Given the description of an element on the screen output the (x, y) to click on. 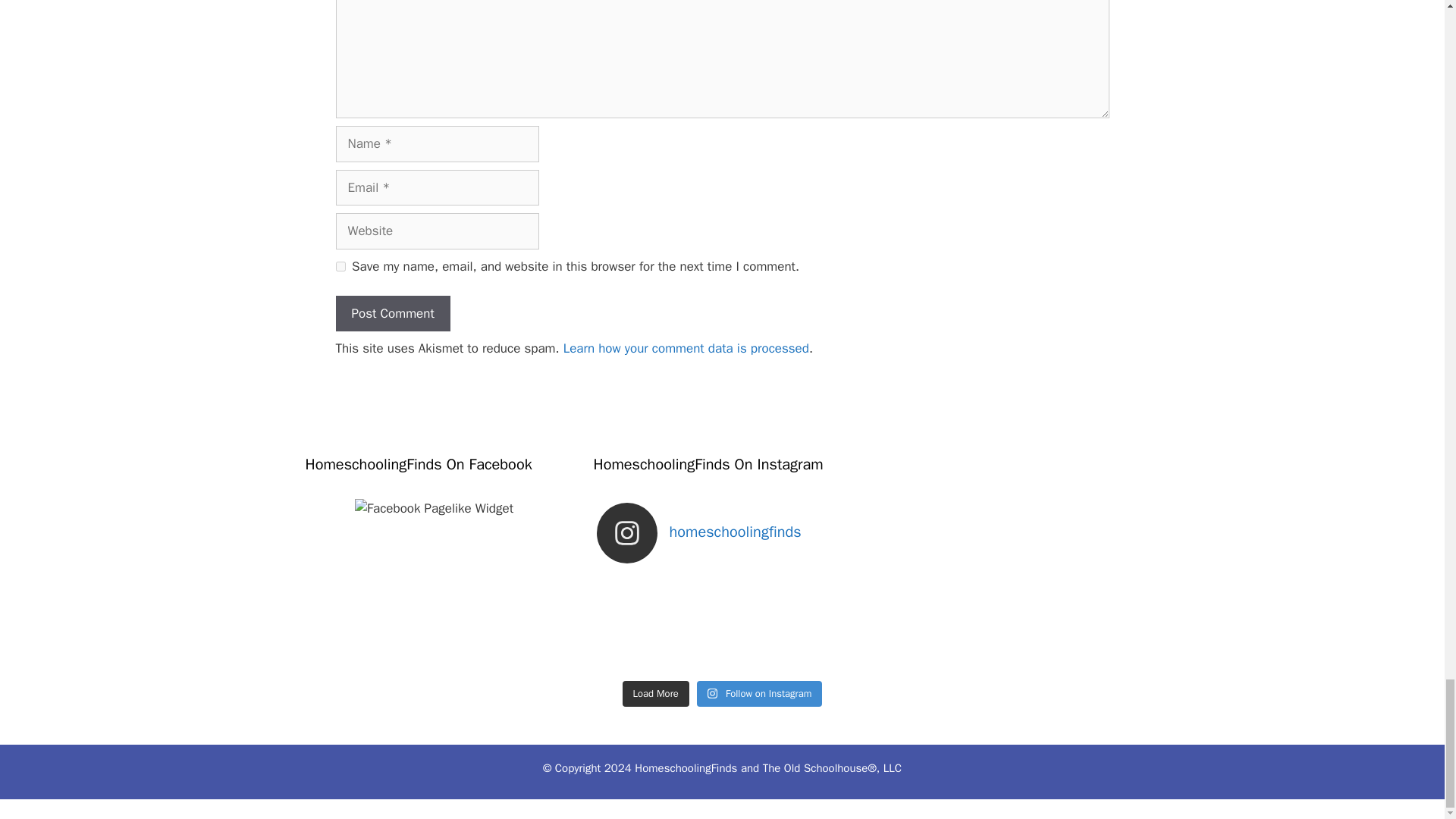
yes (339, 266)
Post Comment (391, 313)
